Given the description of an element on the screen output the (x, y) to click on. 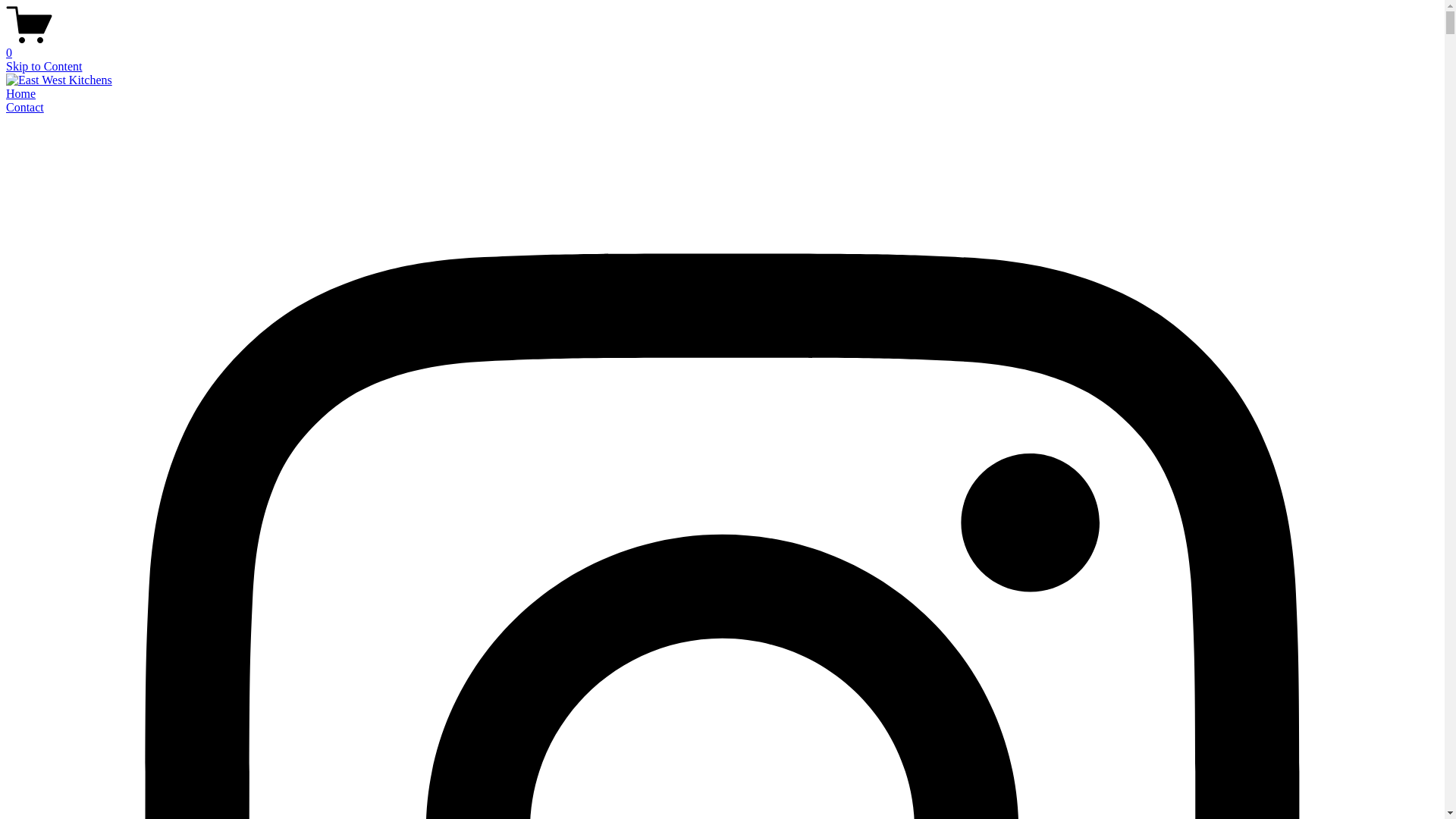
Contact Element type: text (24, 106)
Skip to Content Element type: text (43, 65)
Home Element type: text (20, 93)
0 Element type: text (722, 45)
